Given the description of an element on the screen output the (x, y) to click on. 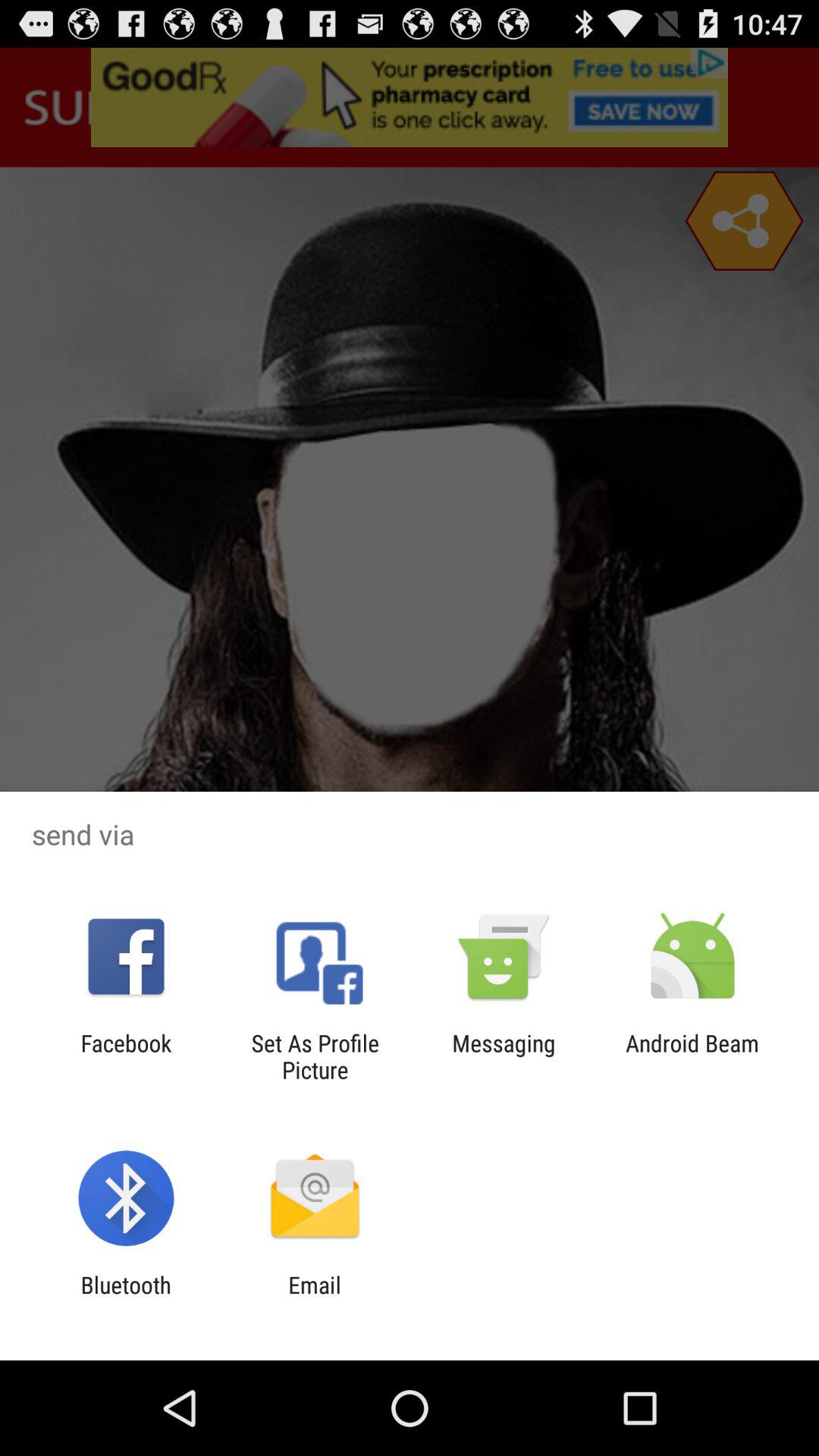
open app next to messaging (692, 1056)
